Given the description of an element on the screen output the (x, y) to click on. 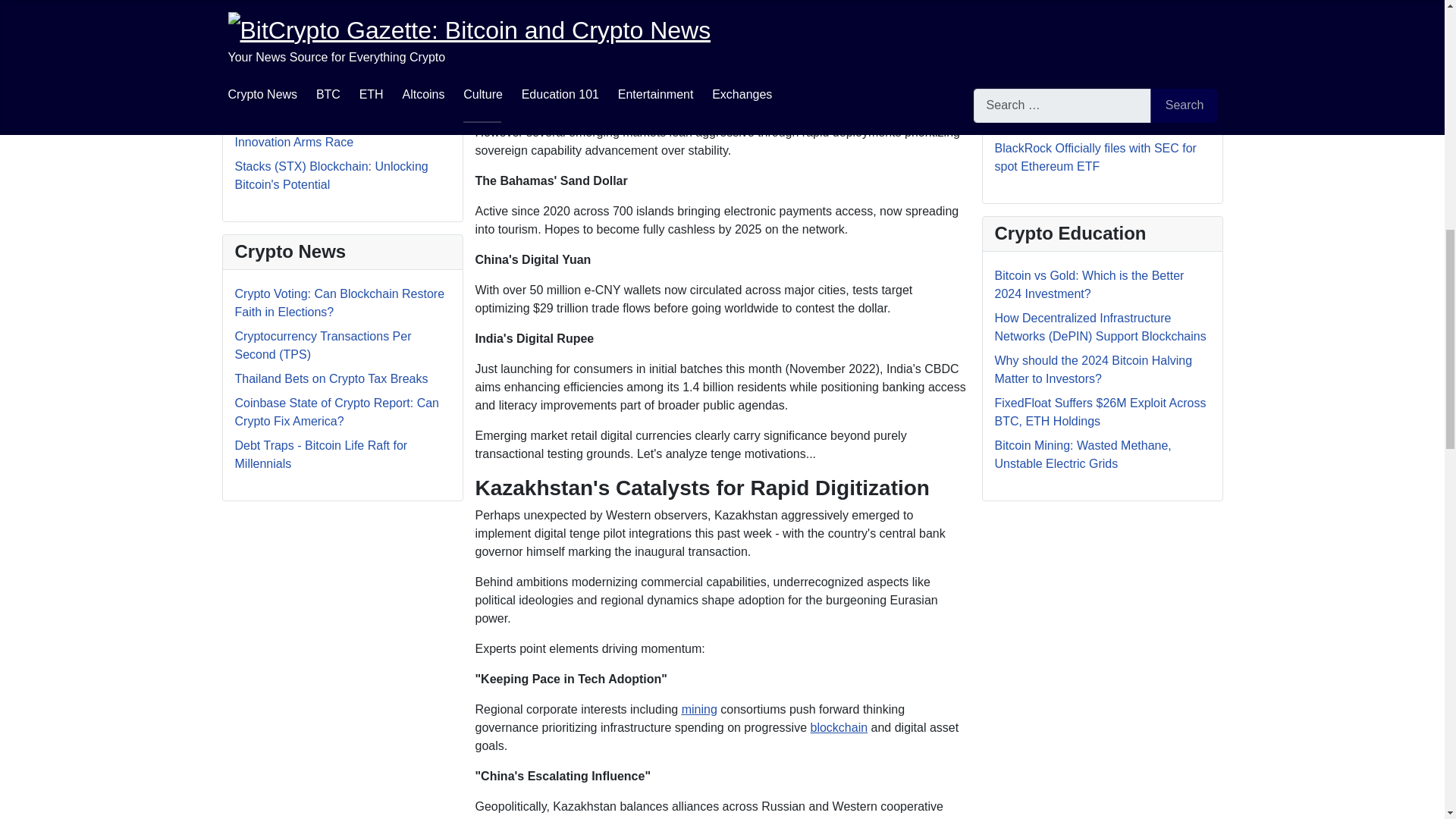
Ethereum Rivals - Keeping Pace With Innovation Arms Race (336, 132)
Thailand Bets on Crypto Tax Breaks (331, 378)
Crypto Voting: Can Blockchain Restore Faith in Elections? (339, 302)
Coinbase State of Crypto Report: Can Crypto Fix America? (336, 411)
blockchain (838, 727)
Bitcoin IRAs: What are the Pros and Cons? (331, 90)
mining (699, 708)
Debt Traps - Bitcoin Life Raft for Millennials (320, 454)
